Given the description of an element on the screen output the (x, y) to click on. 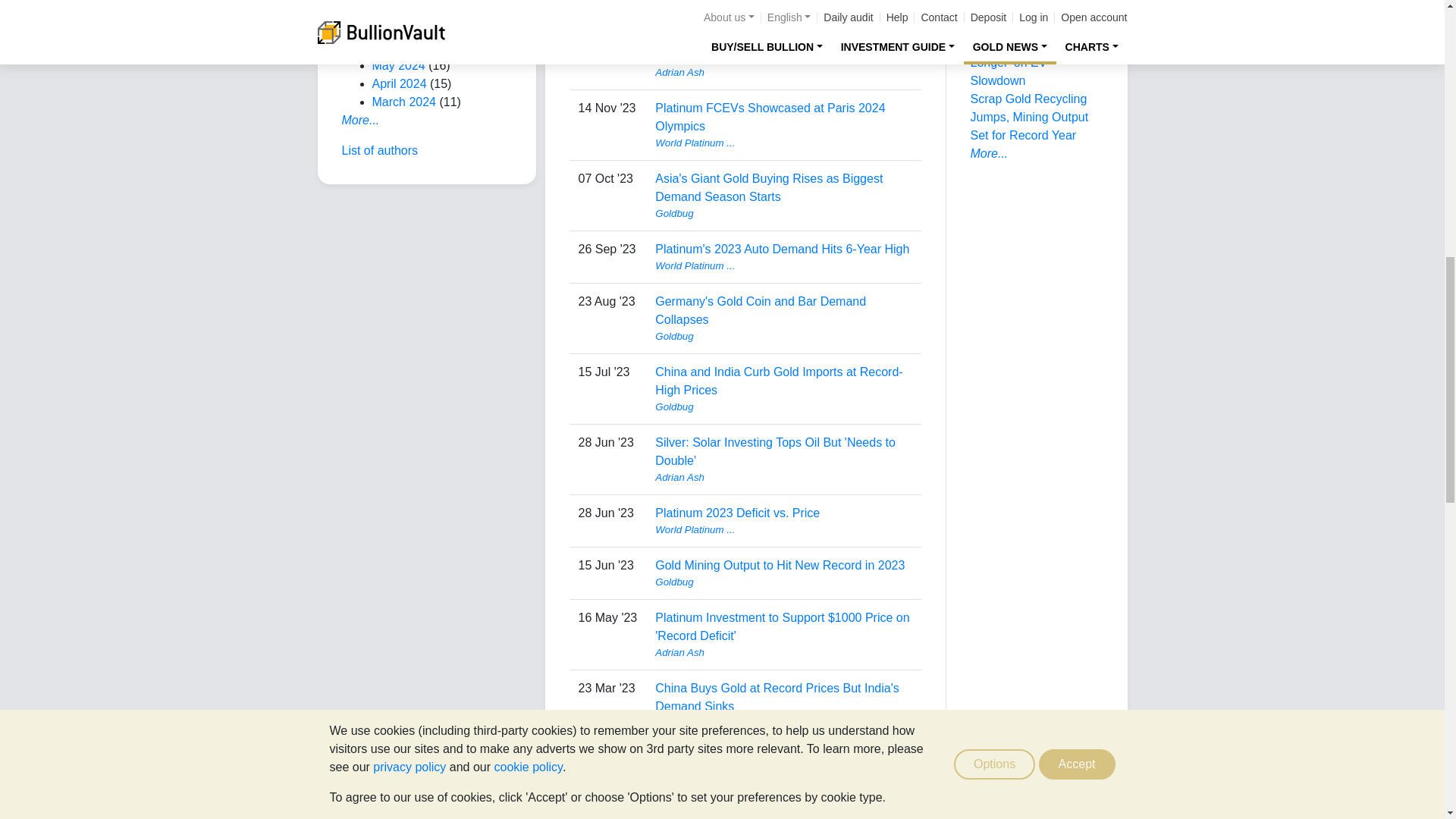
View user profile. (783, 72)
View user profile. (783, 20)
View user profile. (783, 265)
View user profile. (783, 142)
View user profile. (783, 213)
